Given the description of an element on the screen output the (x, y) to click on. 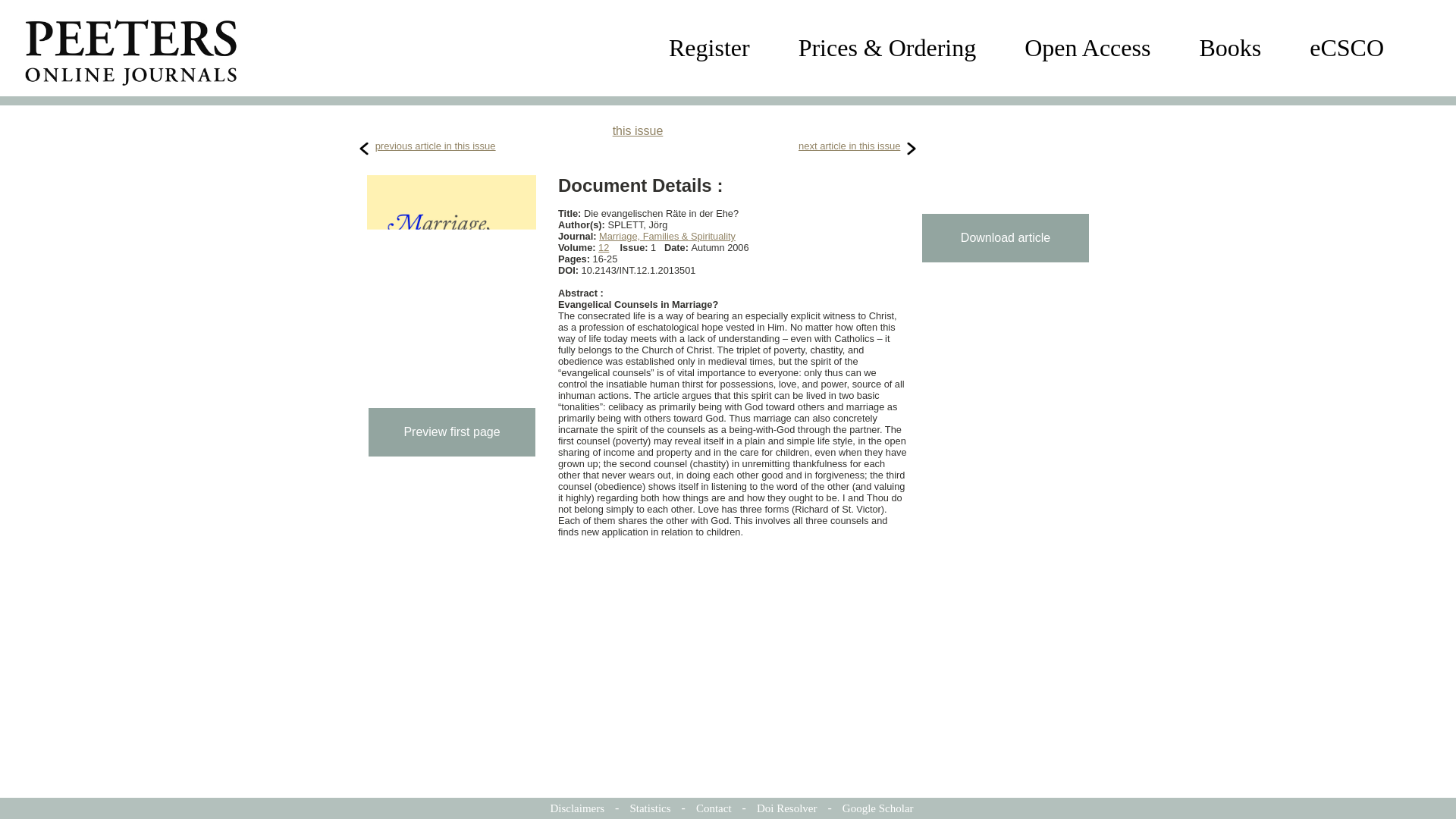
next article in this issue (848, 145)
12 (603, 247)
Books (1229, 47)
Google Scholar (877, 807)
Open Access (1087, 47)
Download article (1005, 237)
this issue (637, 130)
Doi Resolver (787, 807)
Disclaimers (576, 807)
eCSCO (1346, 47)
